Given the description of an element on the screen output the (x, y) to click on. 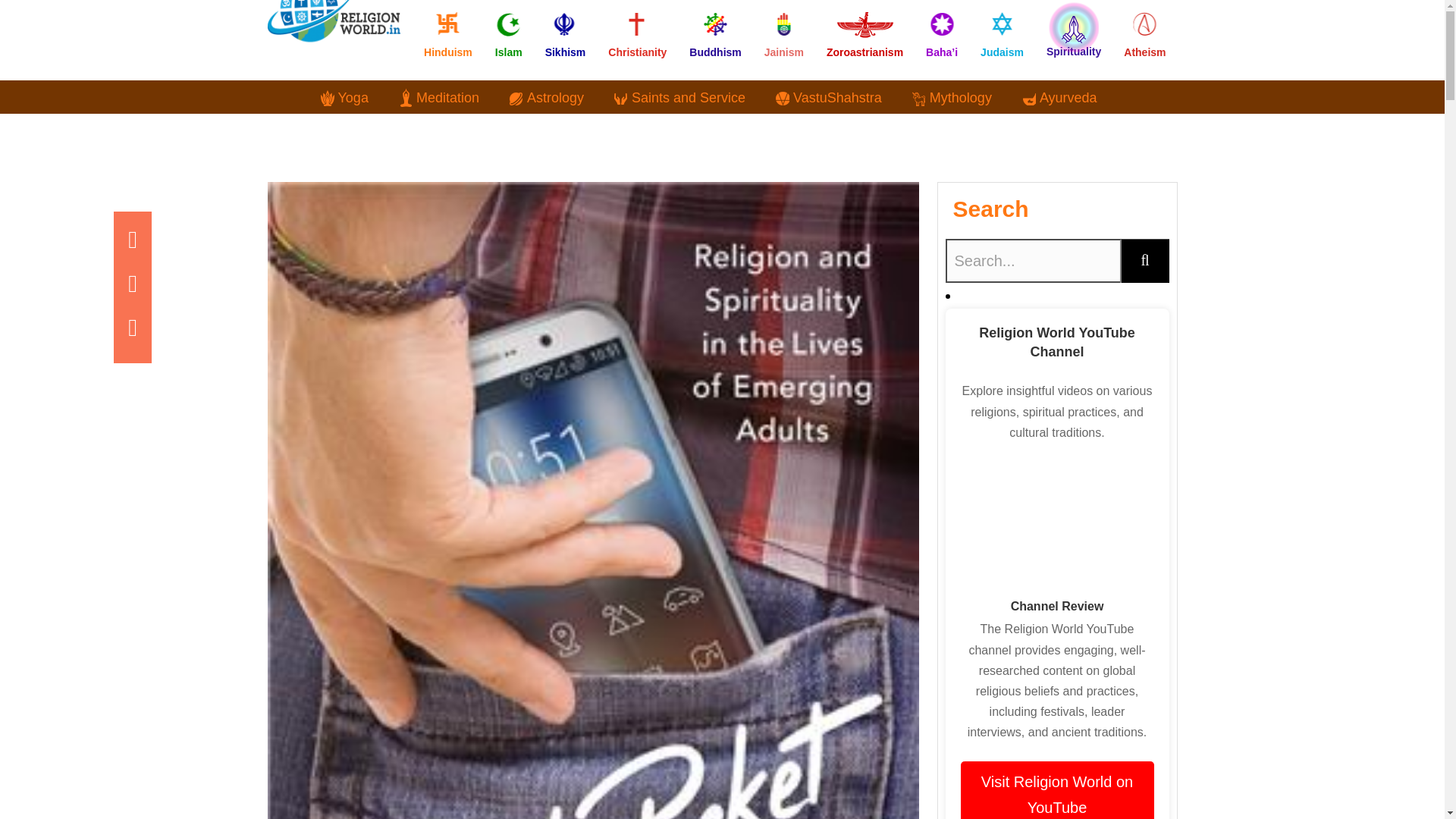
Hinduism (447, 26)
VastuShahstra (829, 97)
Ayurveda (1059, 97)
Judaism (1002, 26)
Buddhism (715, 26)
Islam (508, 26)
Spirituality (1073, 26)
Yoga (344, 97)
Christianity (637, 26)
Astrology (546, 97)
